Given the description of an element on the screen output the (x, y) to click on. 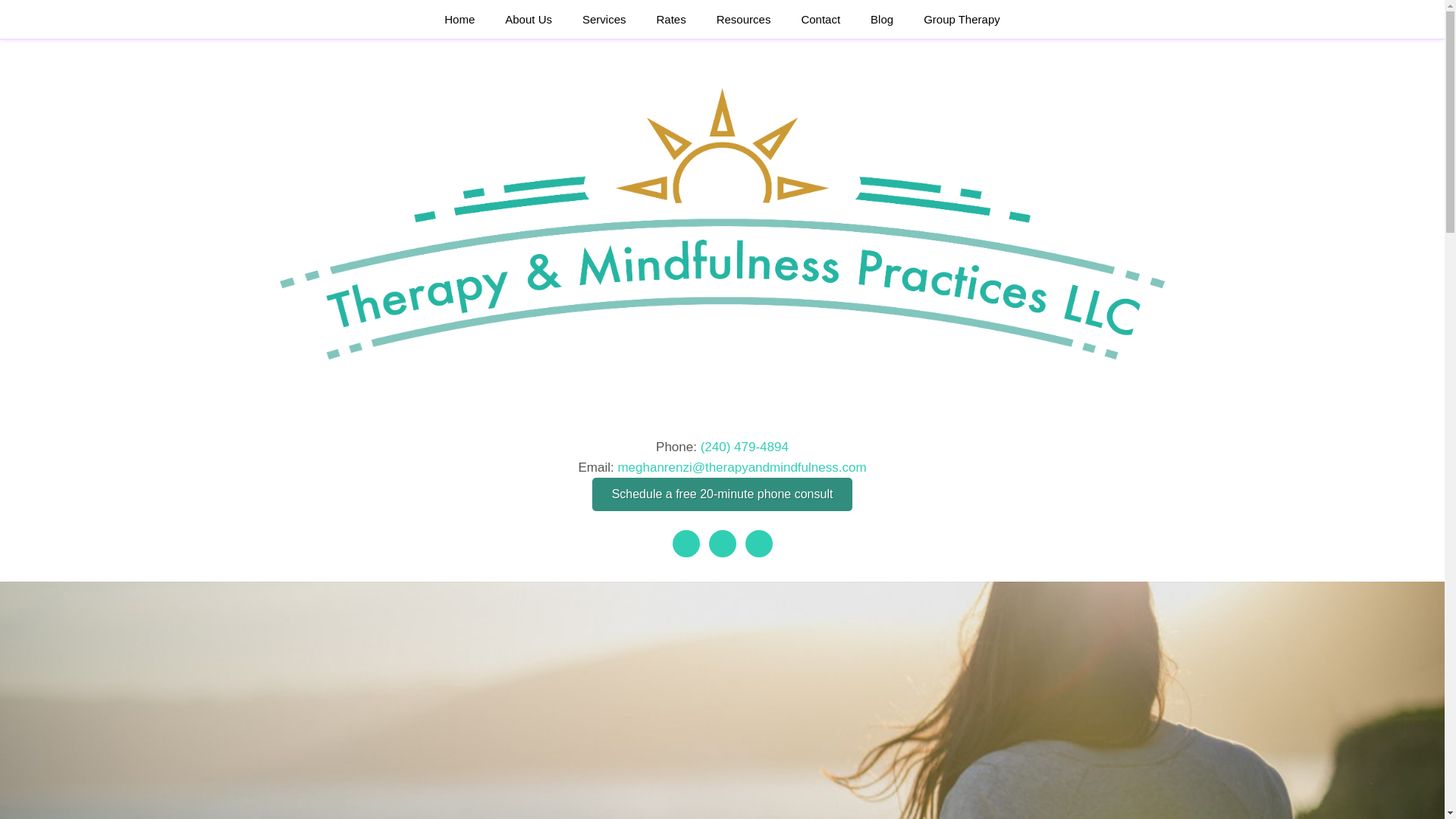
Contact (820, 19)
Resources (743, 19)
About Us (528, 19)
Group Therapy (961, 19)
Blog (881, 19)
Schedule a free 20-minute phone consult (722, 494)
Services (604, 19)
Home (459, 19)
Rates (670, 19)
